Given the description of an element on the screen output the (x, y) to click on. 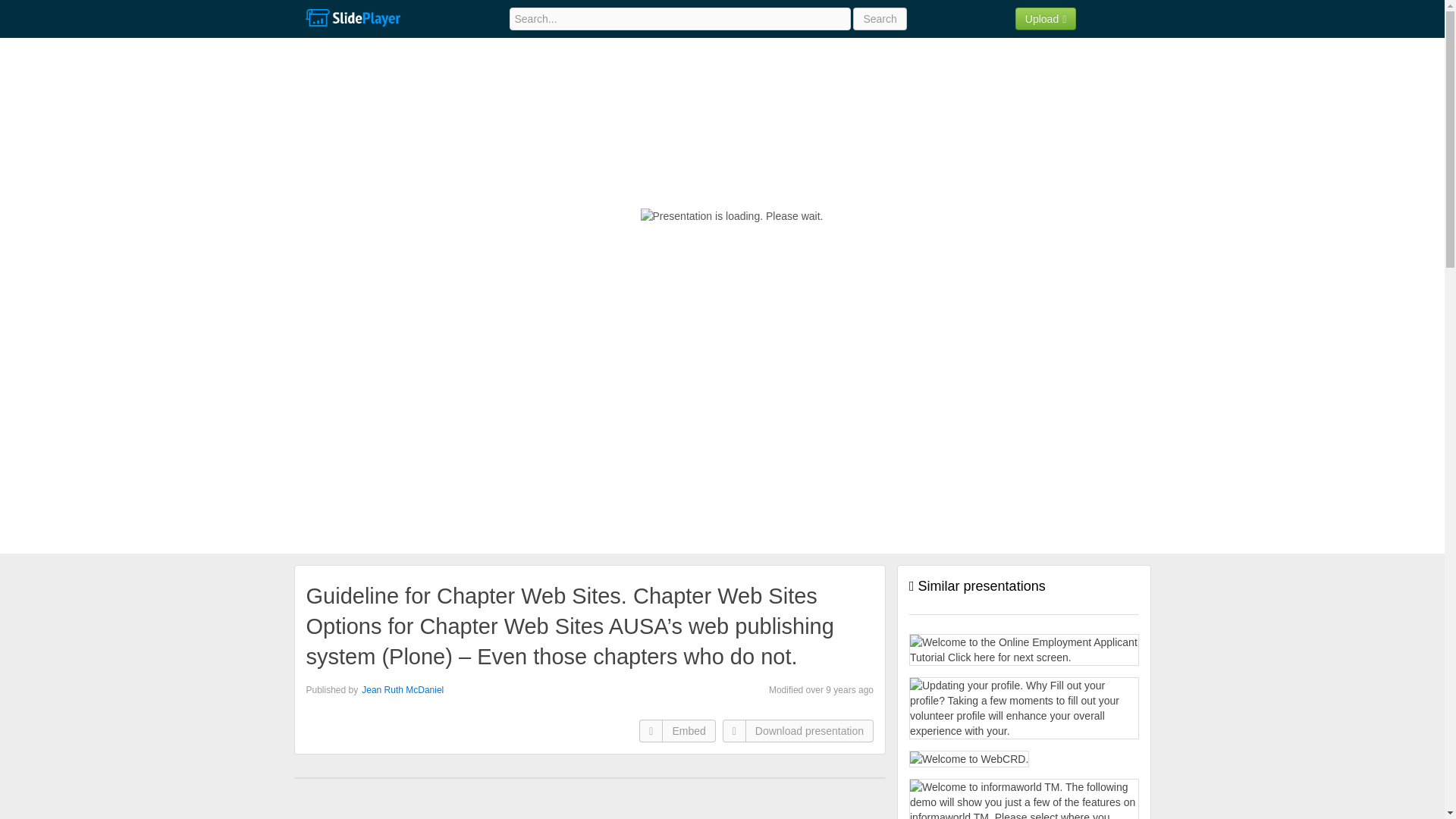
Upload (1045, 18)
SlidePlayer (352, 18)
Jean Ruth McDaniel (402, 689)
Search (879, 18)
Presentation is loading. Please wait. (732, 215)
